Given the description of an element on the screen output the (x, y) to click on. 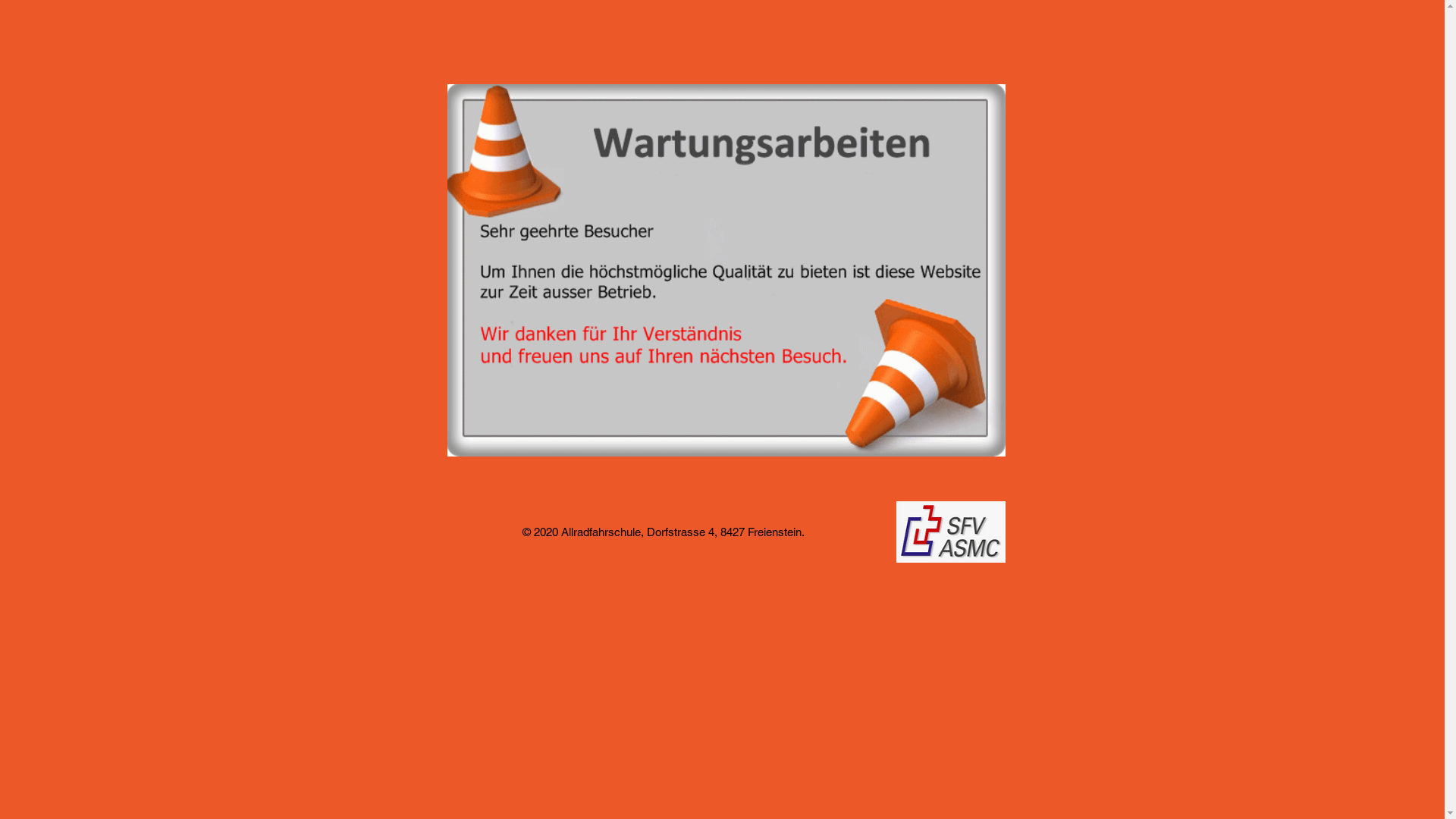
wartungsarbeiten_web.gif Element type: hover (726, 270)
